Given the description of an element on the screen output the (x, y) to click on. 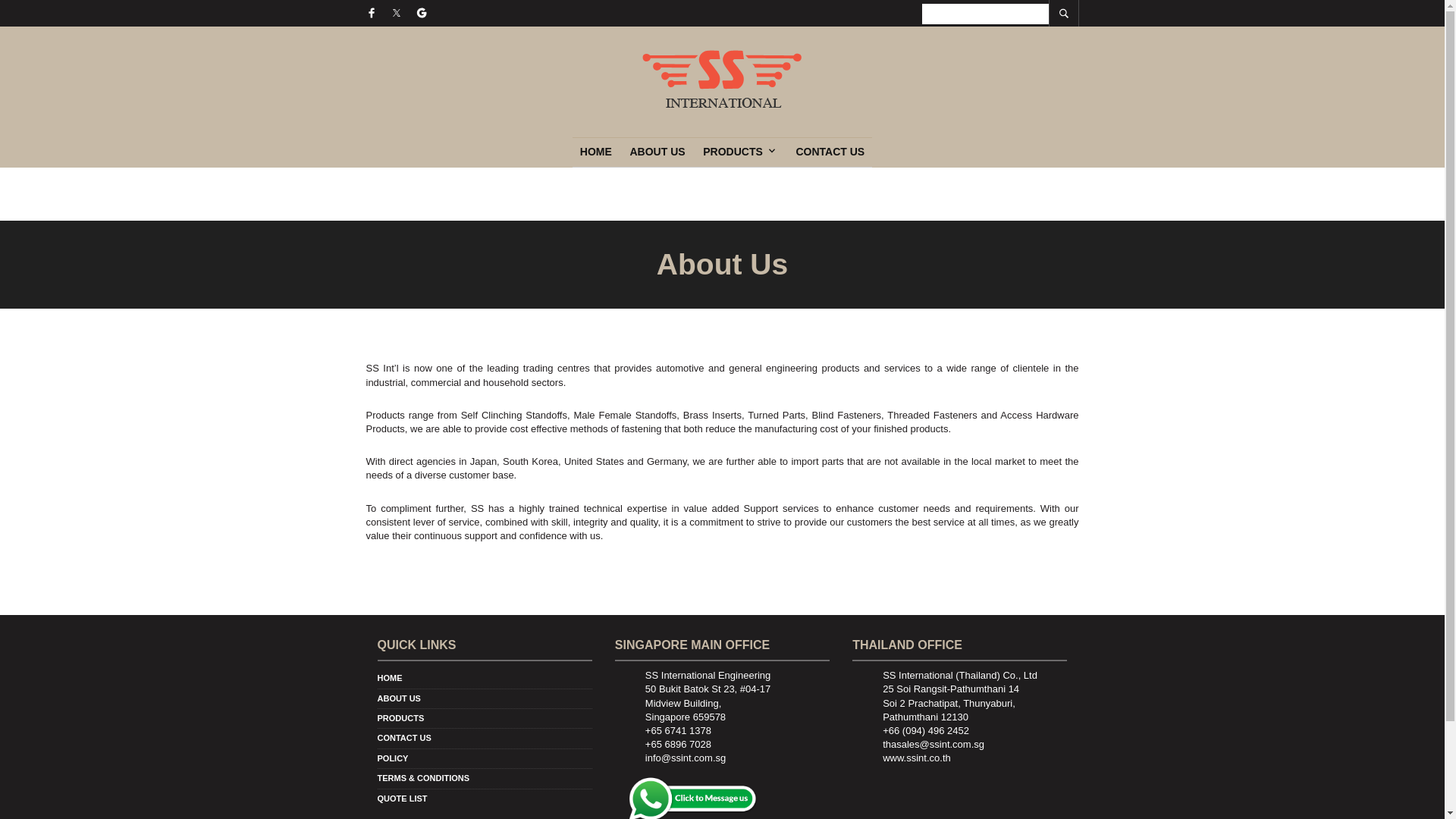
QUOTE LIST (402, 798)
ABOUT US (398, 697)
PRODUCTS (736, 152)
POLICY (393, 757)
HOME (390, 677)
CONTACT US (829, 152)
ABOUT US (657, 152)
CONTACT US (403, 737)
HOME (596, 152)
PRODUCTS (401, 717)
